Given the description of an element on the screen output the (x, y) to click on. 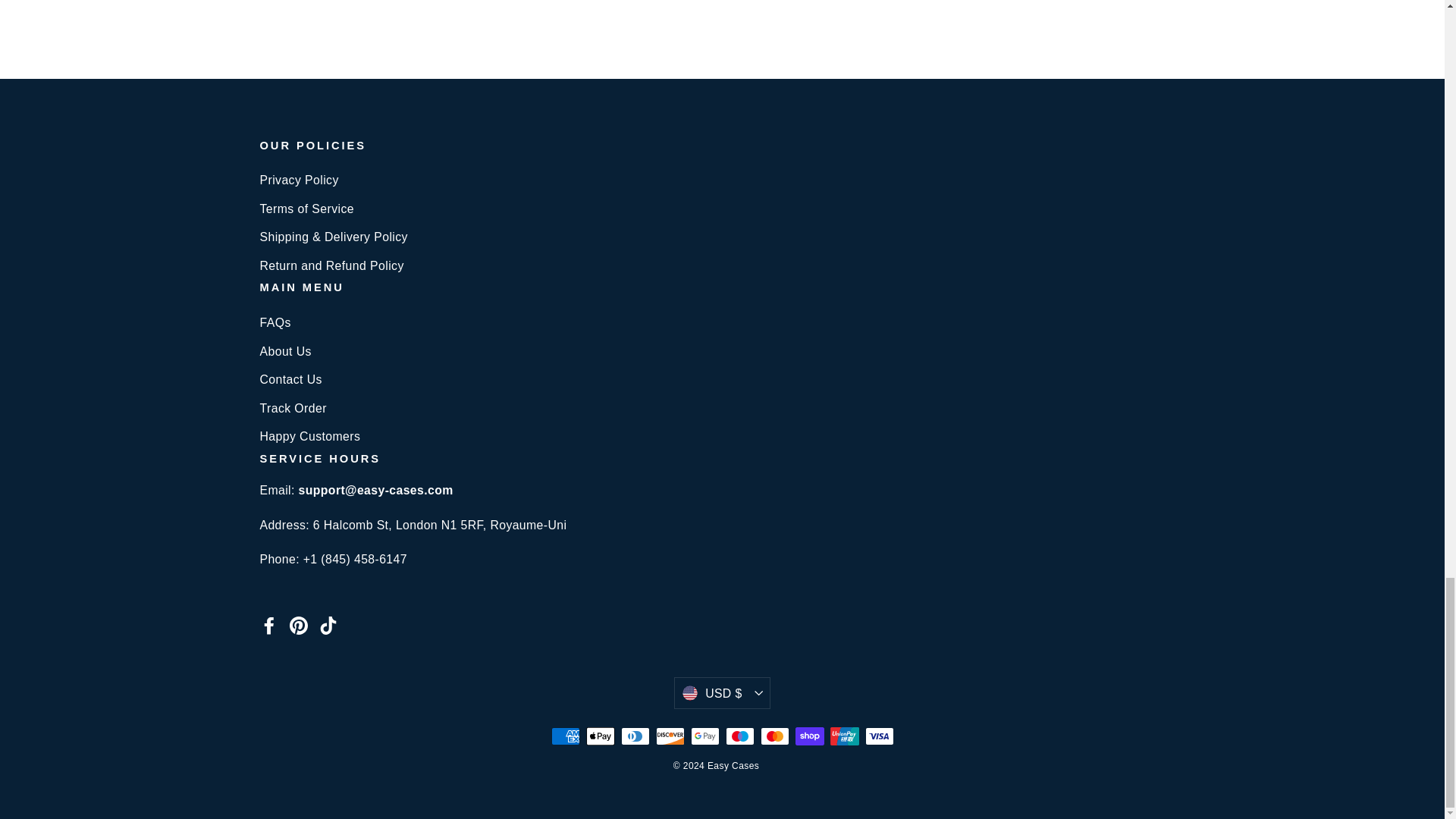
Apple Pay (599, 736)
American Express (564, 736)
Google Pay (704, 736)
Easy Cases on Pinterest (298, 624)
Maestro (739, 736)
Easy Cases on TikTok (327, 624)
Discover (669, 736)
Diners Club (634, 736)
